Given the description of an element on the screen output the (x, y) to click on. 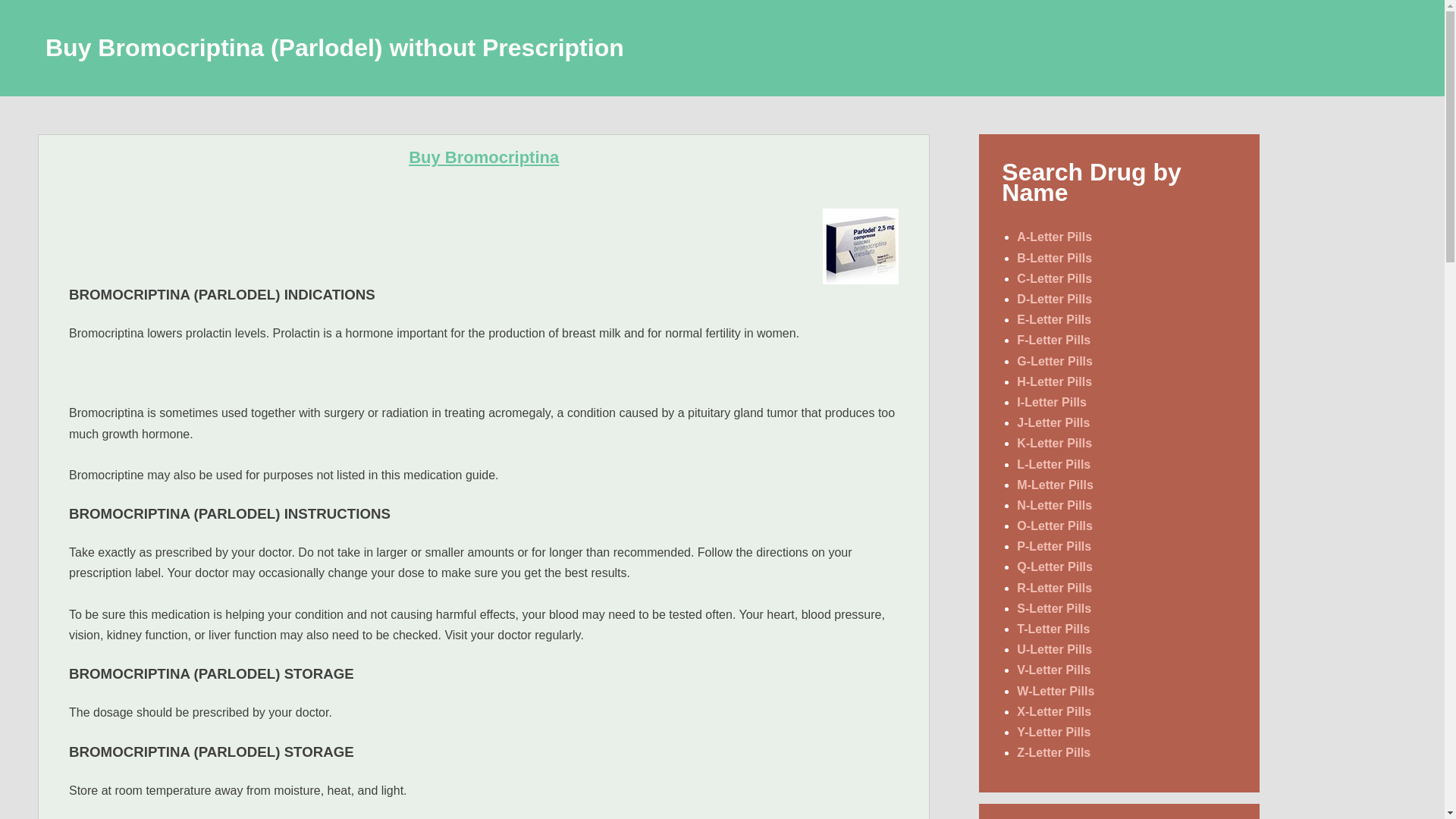
W-Letter Pills (1055, 690)
Y-Letter Pills (1053, 731)
Buy drugs having name starting with letter L (1053, 463)
Buy drugs having name starting with letter B (1054, 257)
Buy drugs having name starting with letter E (1053, 318)
Buy drugs having name starting with letter O (1054, 525)
Buy Bromocriptina (484, 157)
K-Letter Pills (1054, 442)
Buy drugs having name starting with letter D (1054, 298)
R-Letter Pills (1054, 587)
V-Letter Pills (1053, 669)
Z-Letter Pills (1053, 752)
D-Letter Pills (1054, 298)
F-Letter Pills (1053, 339)
X-Letter Pills (1053, 711)
